Given the description of an element on the screen output the (x, y) to click on. 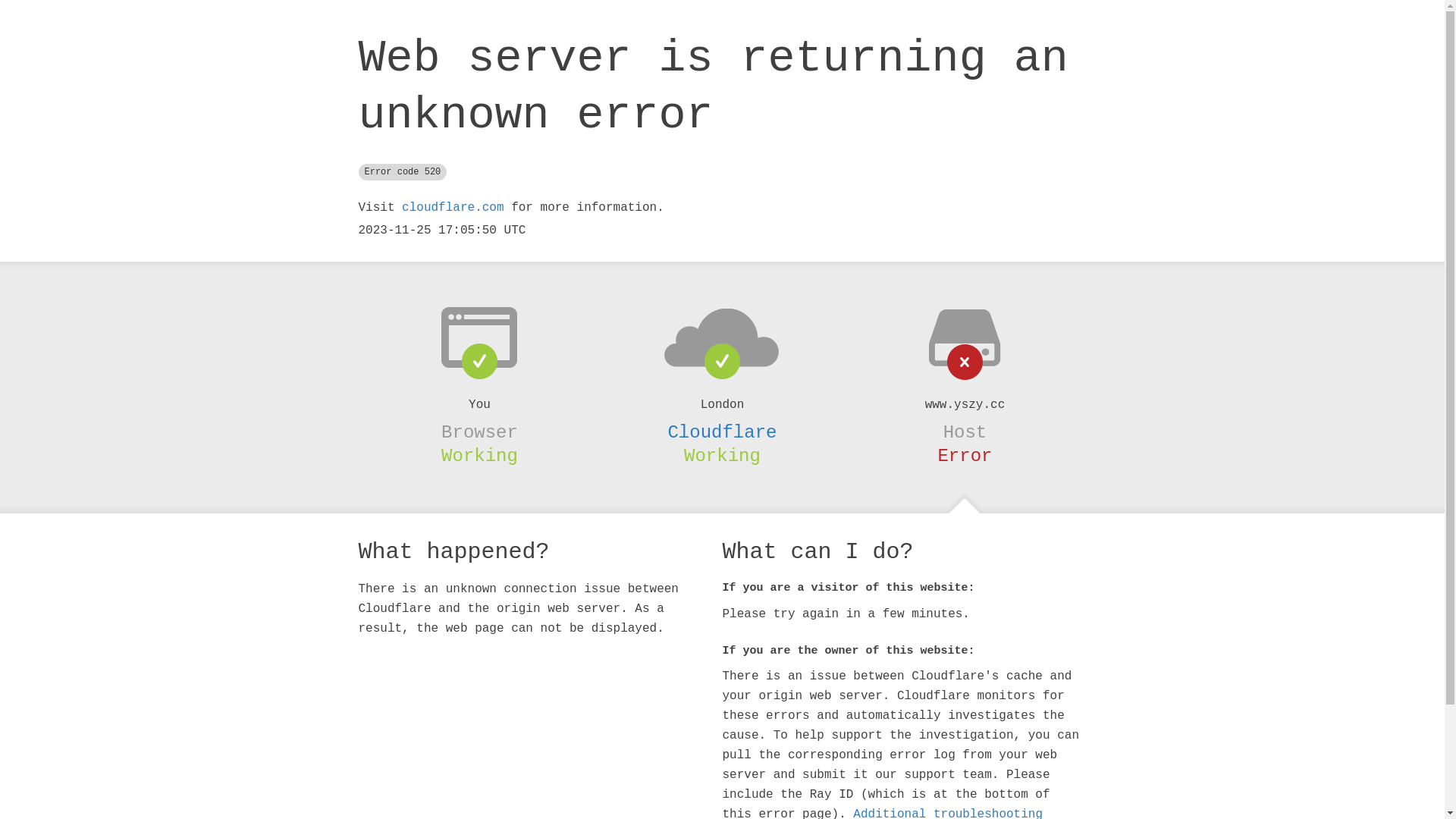
cloudflare.com Element type: text (452, 207)
Cloudflare Element type: text (721, 432)
